Given the description of an element on the screen output the (x, y) to click on. 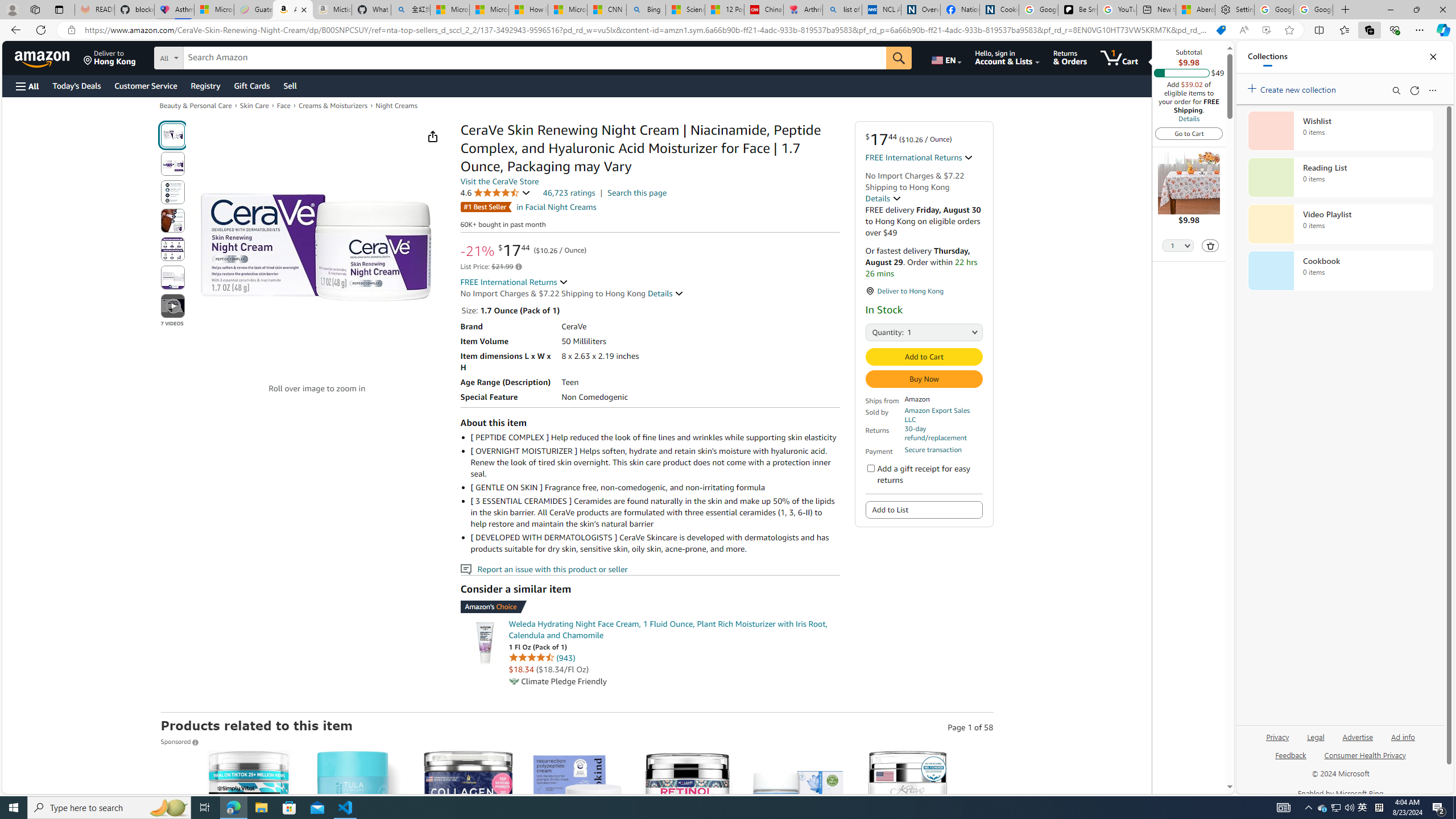
Be Smart | creating Science videos | Patreon (1077, 9)
Open Menu (26, 86)
Minimize (1390, 9)
Quantity: (877, 331)
Share (432, 135)
Personal Profile (12, 9)
Collections (1369, 29)
Sponsored  (179, 741)
Today's Deals (76, 85)
Ad info (1402, 736)
Enhance video (1266, 29)
